Given the description of an element on the screen output the (x, y) to click on. 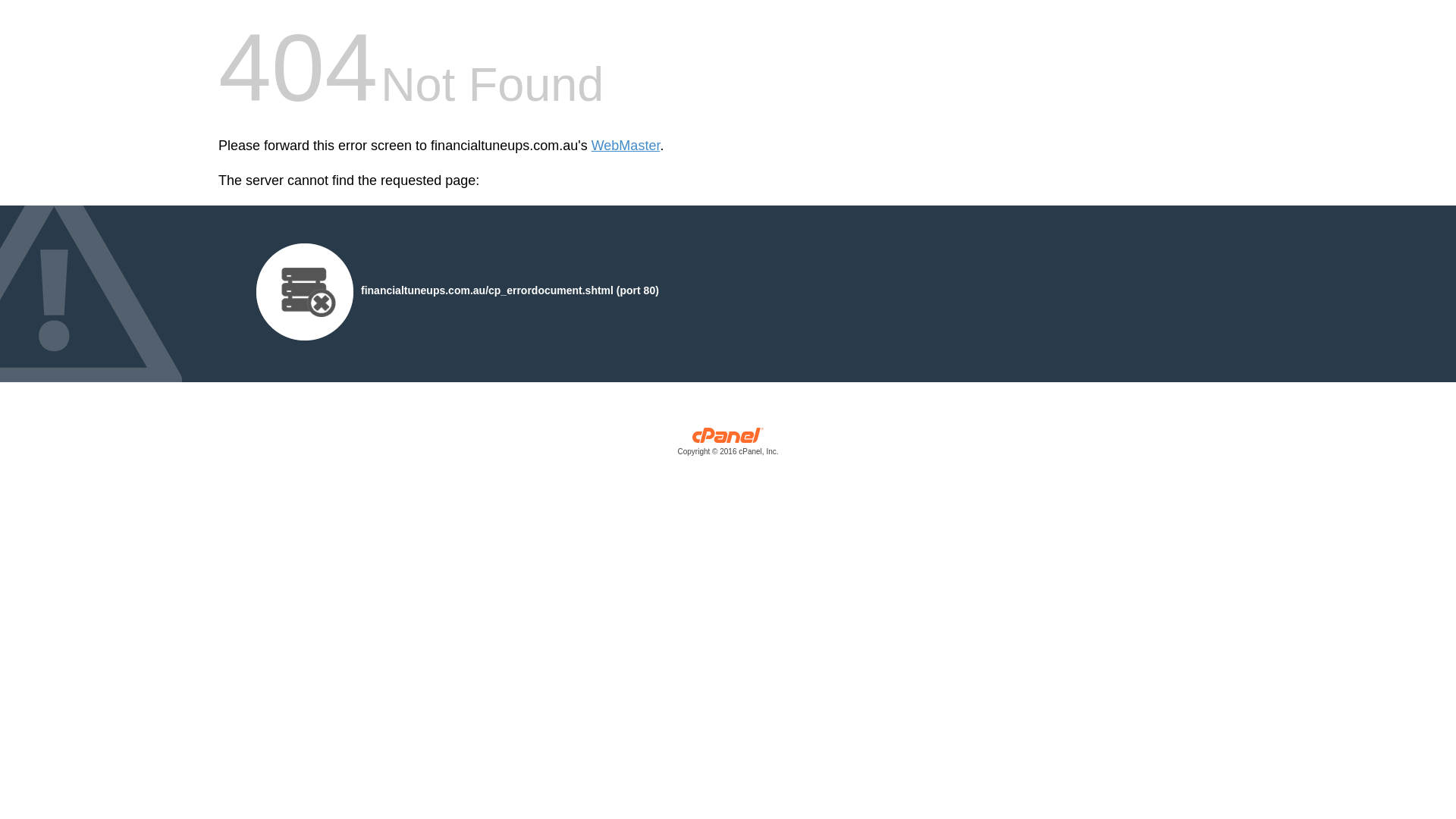
WebMaster Element type: text (625, 145)
